Given the description of an element on the screen output the (x, y) to click on. 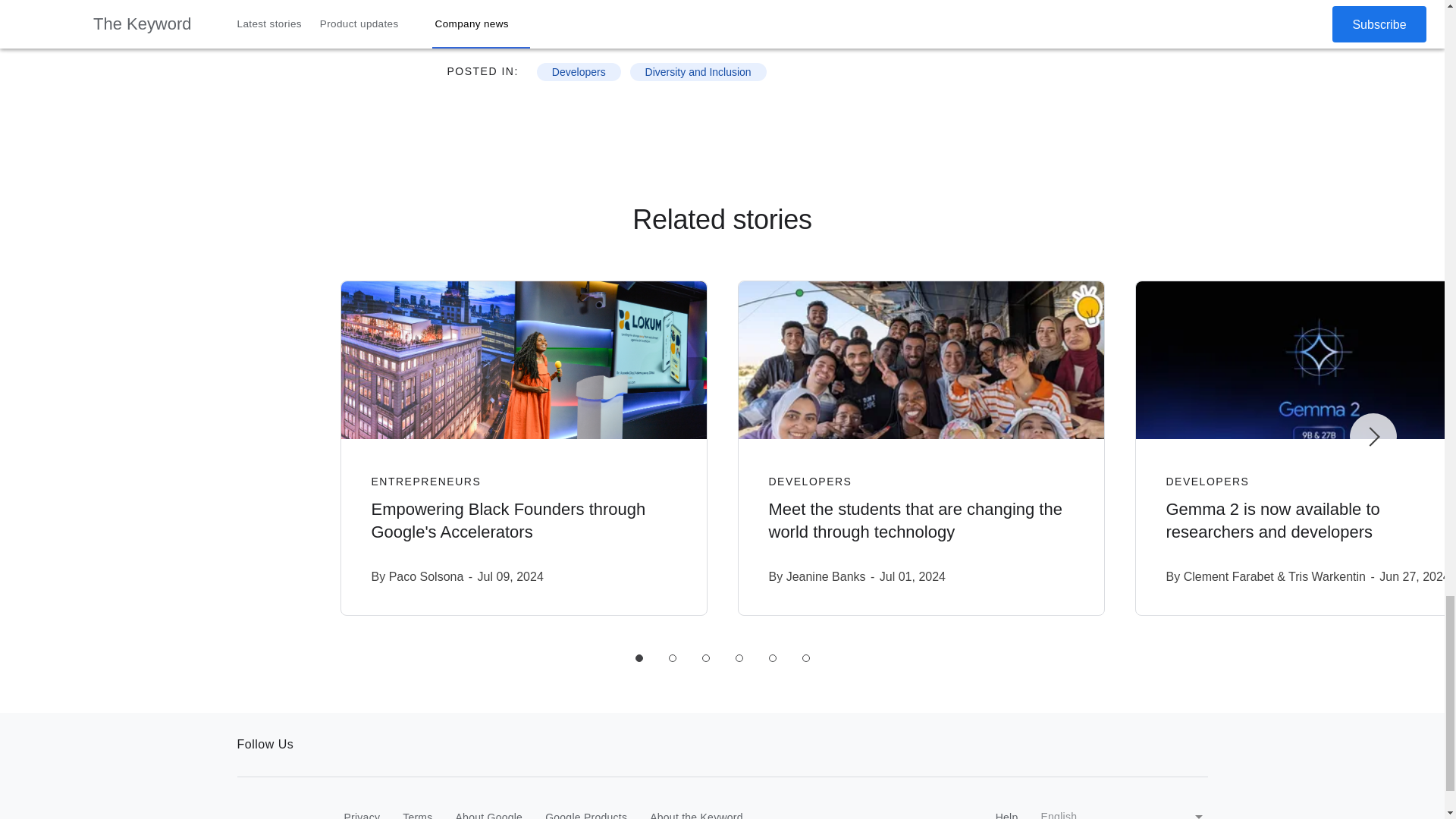
Google (268, 813)
